Given the description of an element on the screen output the (x, y) to click on. 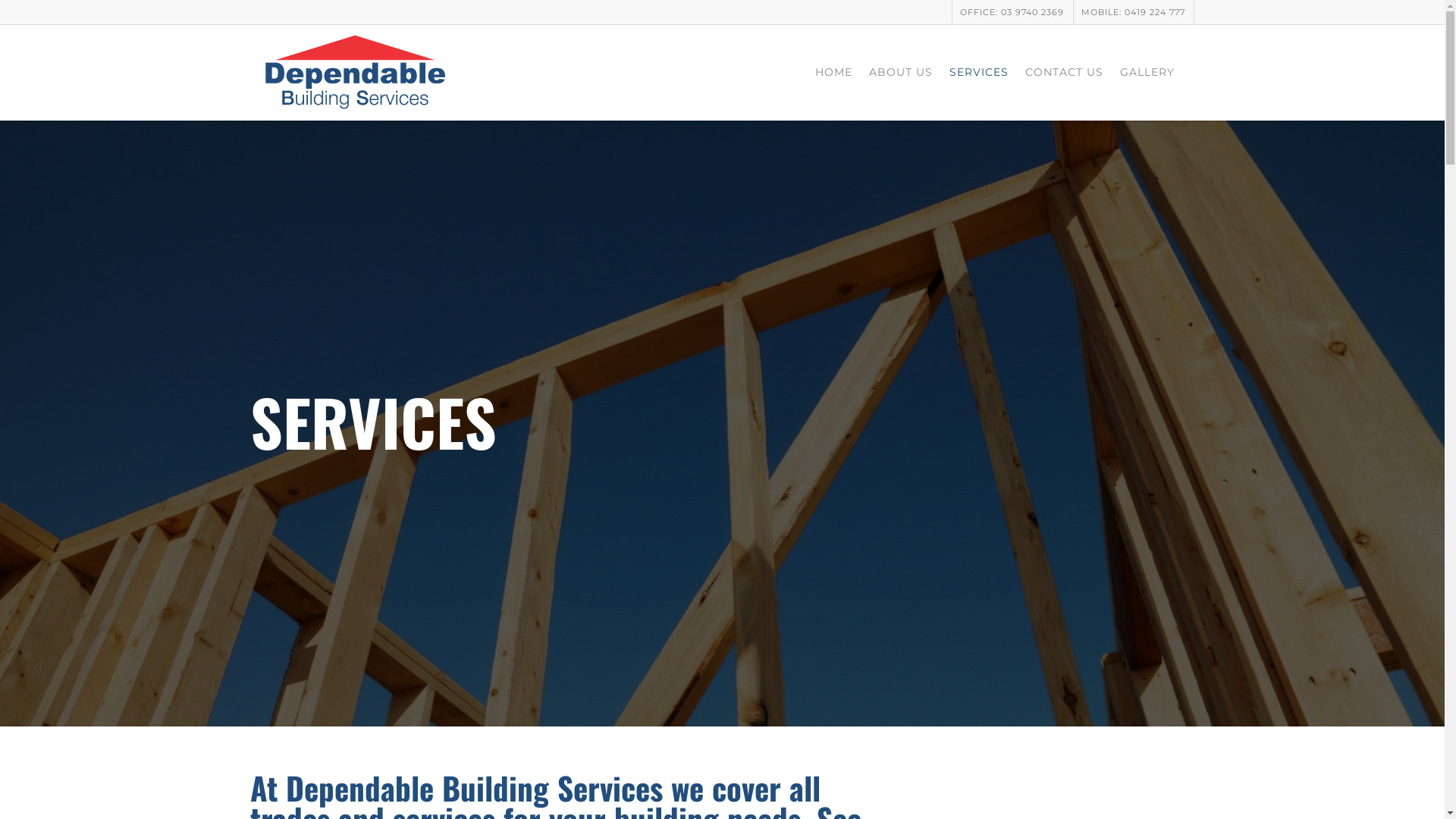
ABOUT US Element type: text (900, 75)
OFFICE: 03 9740 2369 Element type: text (1011, 12)
MOBILE: 0419 224 777 Element type: text (1132, 12)
GALLERY Element type: text (1147, 75)
HOME Element type: text (833, 75)
CONTACT US Element type: text (1063, 75)
SERVICES Element type: text (978, 75)
